Given the description of an element on the screen output the (x, y) to click on. 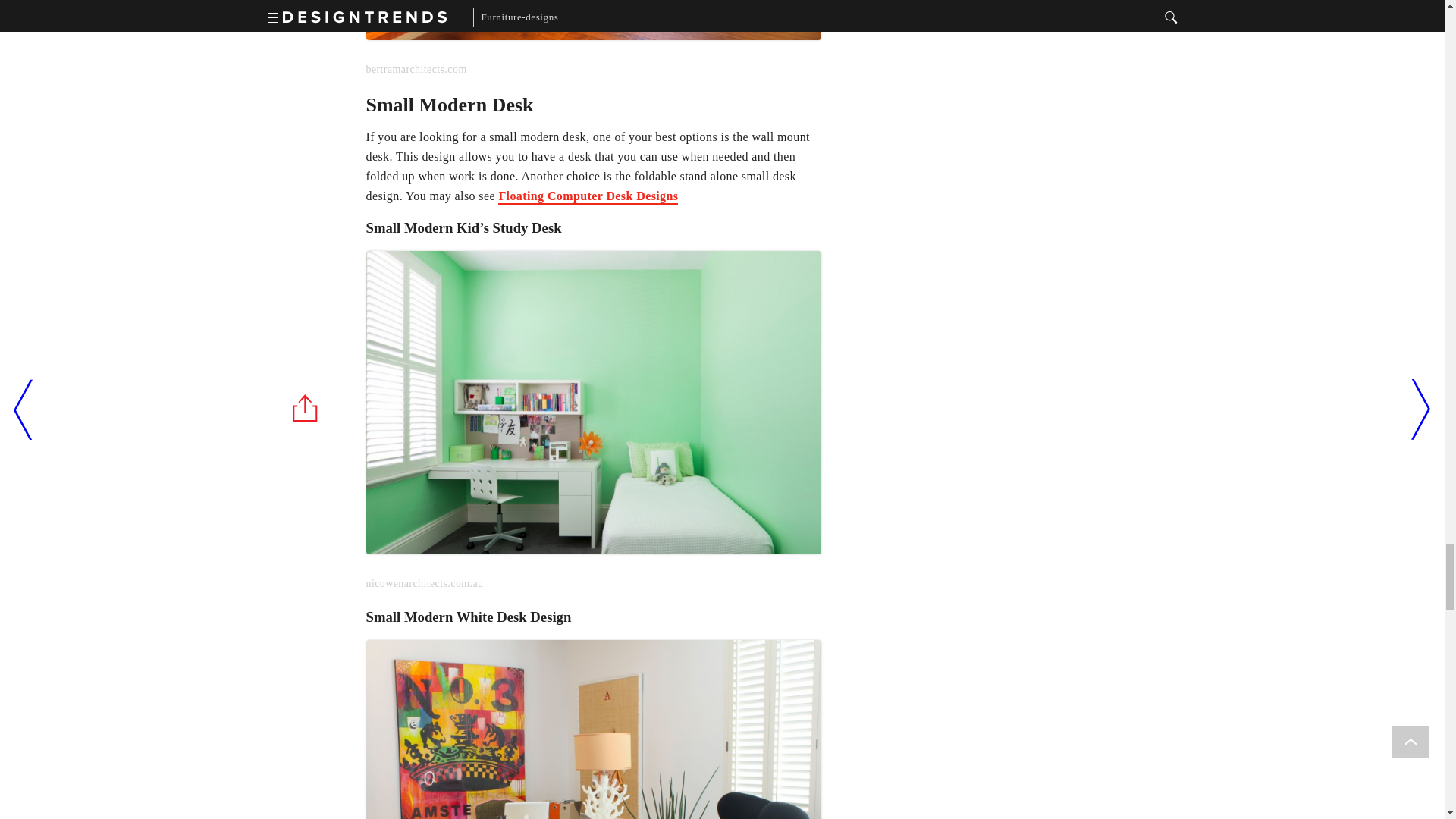
Floating Computer Desk Designs (587, 196)
bertramarchitects.com (593, 40)
jacinteriors.com (593, 729)
